Given the description of an element on the screen output the (x, y) to click on. 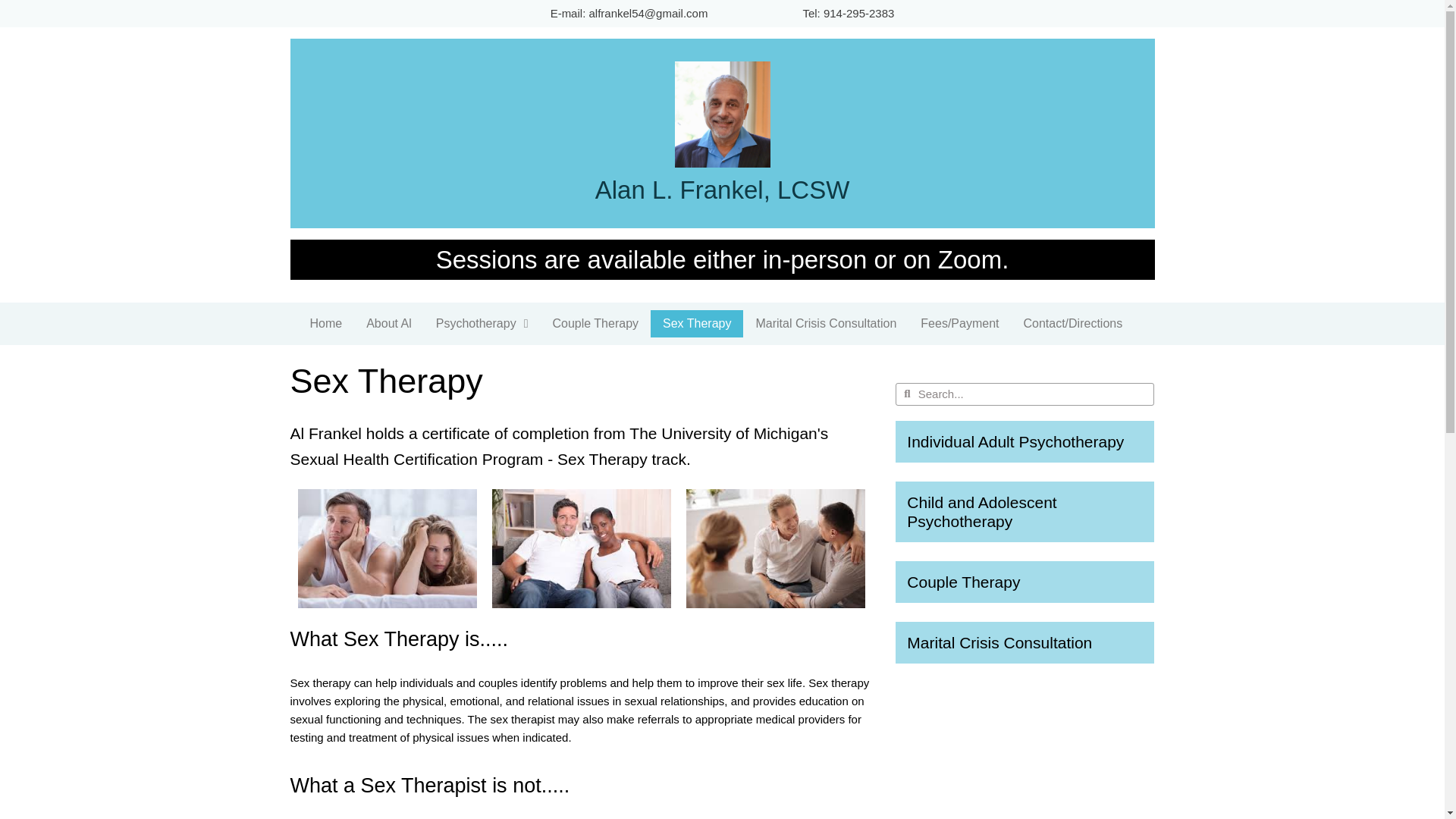
Sex Therapy (696, 323)
Home (325, 323)
Couple Therapy (595, 323)
About Al (388, 323)
Psychotherapy (481, 323)
Marital Crisis Consultation (825, 323)
